Given the description of an element on the screen output the (x, y) to click on. 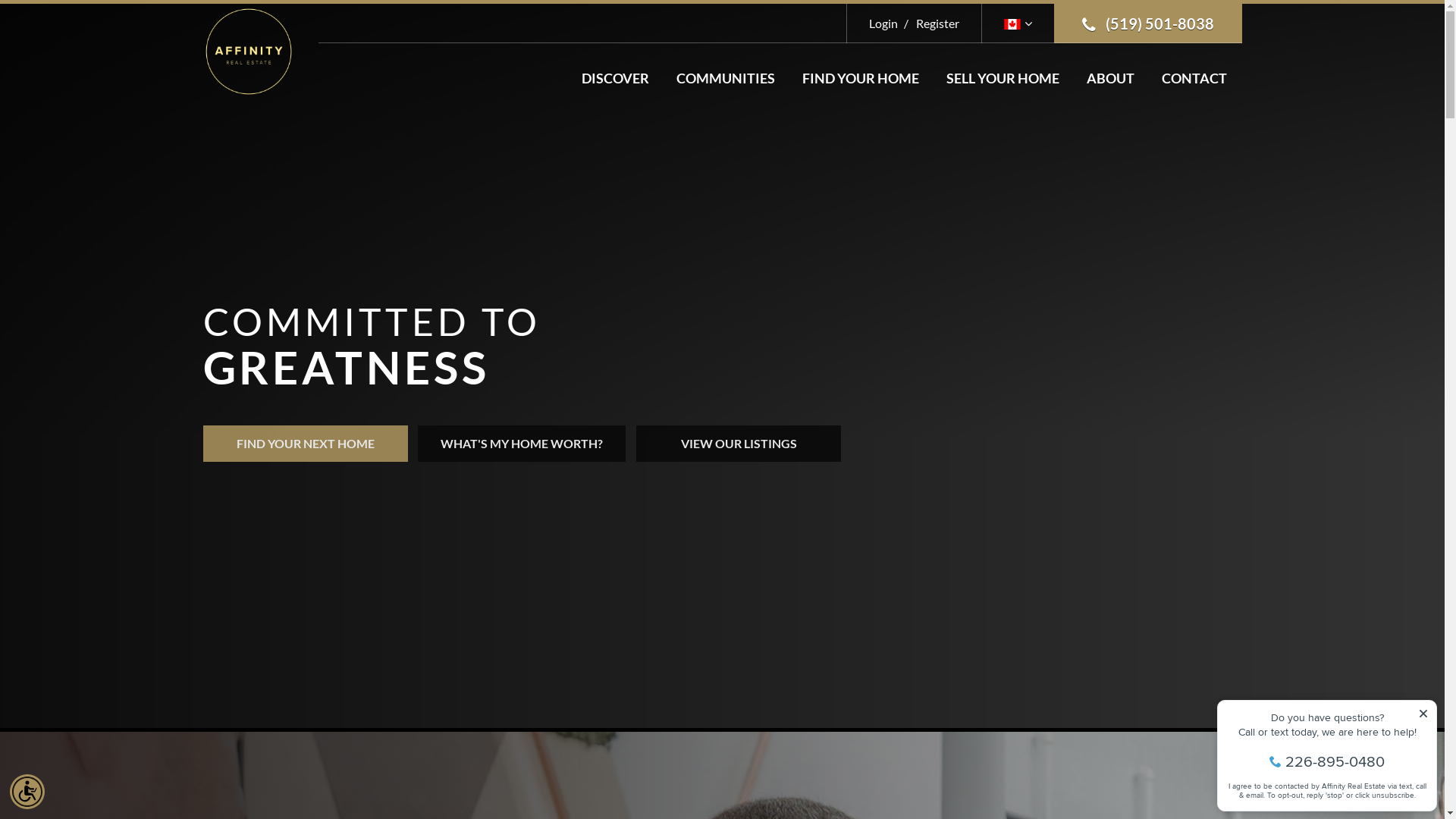
FIND YOUR NEXT HOME Element type: text (305, 443)
Login Element type: text (883, 22)
Home Page Element type: hover (248, 49)
DISCOVER Element type: text (614, 77)
VIEW OUR LISTINGS Element type: text (738, 443)
(519) 501-8038 Element type: text (1147, 23)
WHAT'S MY HOME WORTH? Element type: text (521, 443)
COMMUNITIES Element type: text (725, 77)
FIND YOUR HOME Element type: text (860, 77)
CONTACT Element type: text (1194, 77)
ABOUT Element type: text (1109, 77)
SELL YOUR HOME Element type: text (1002, 77)
Select Language Element type: hover (1018, 23)
Register Element type: text (929, 22)
